Given the description of an element on the screen output the (x, y) to click on. 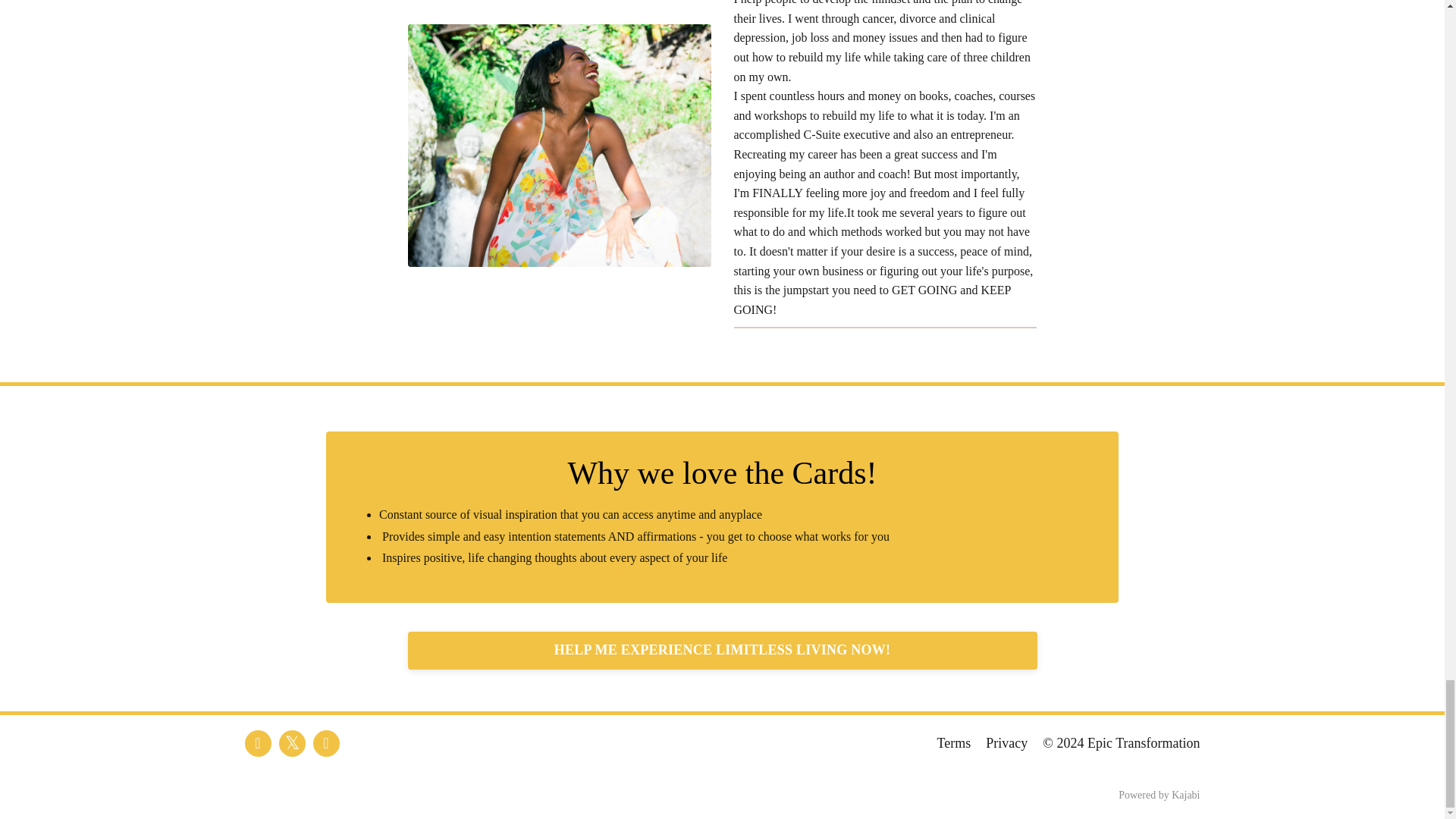
HELP ME EXPERIENCE LIMITLESS LIVING NOW! (721, 650)
Privacy (1006, 743)
Powered by Kajabi (1158, 794)
Terms (954, 743)
